Given the description of an element on the screen output the (x, y) to click on. 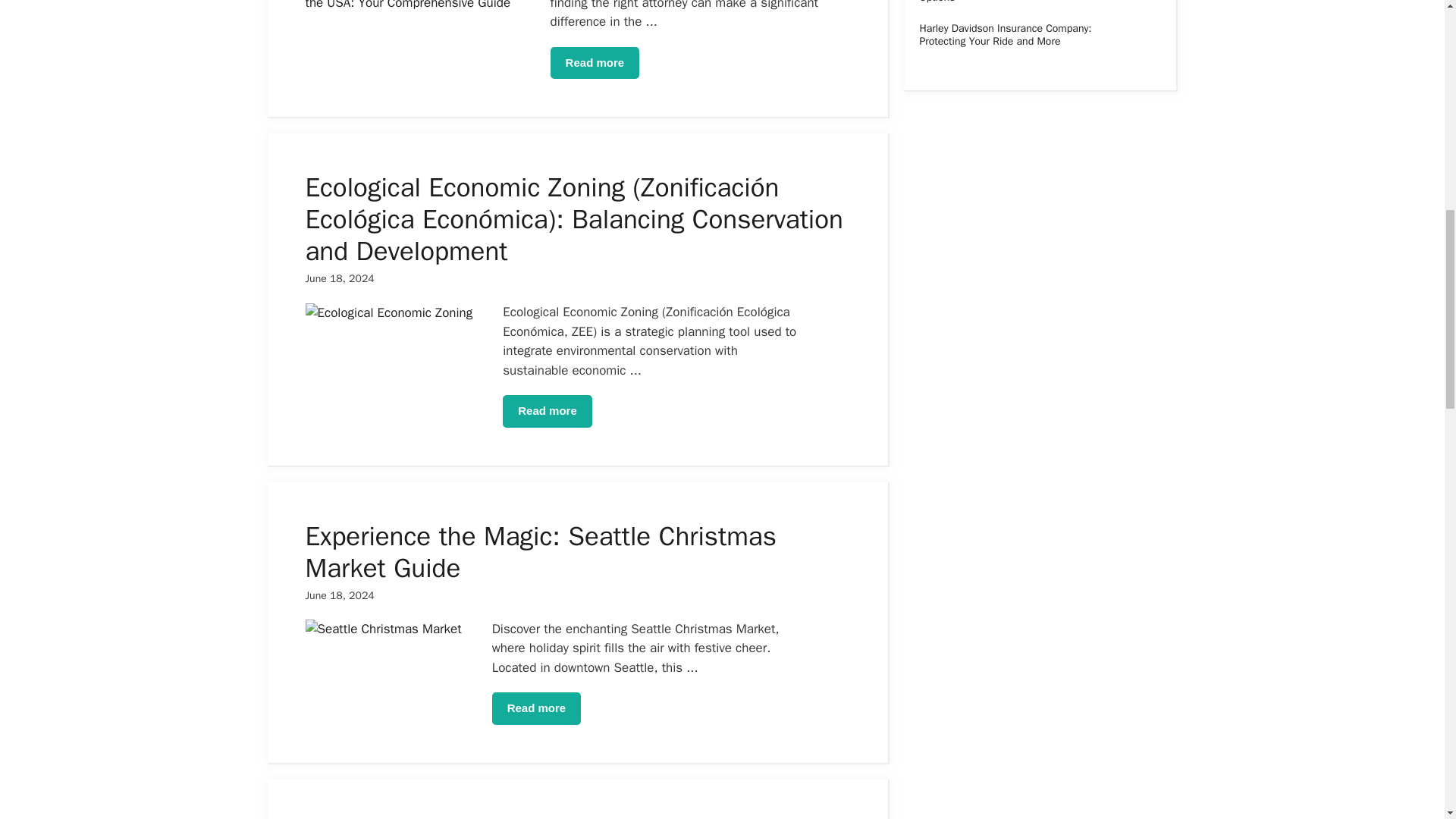
Read more (547, 410)
Experience the Magic: Seattle Christmas Market Guide (540, 550)
Read more (536, 708)
Read more (595, 62)
